Given the description of an element on the screen output the (x, y) to click on. 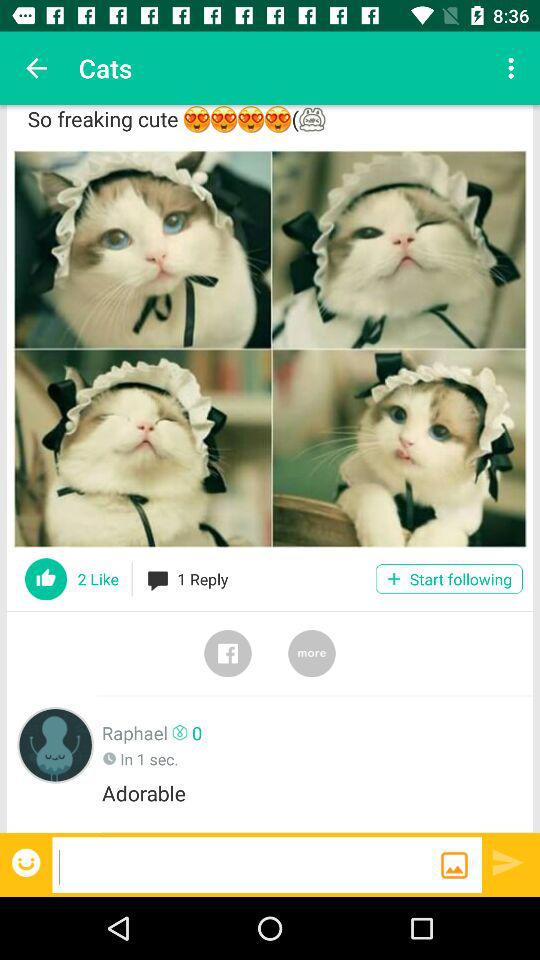
turn off item at the top right corner (513, 67)
